Given the description of an element on the screen output the (x, y) to click on. 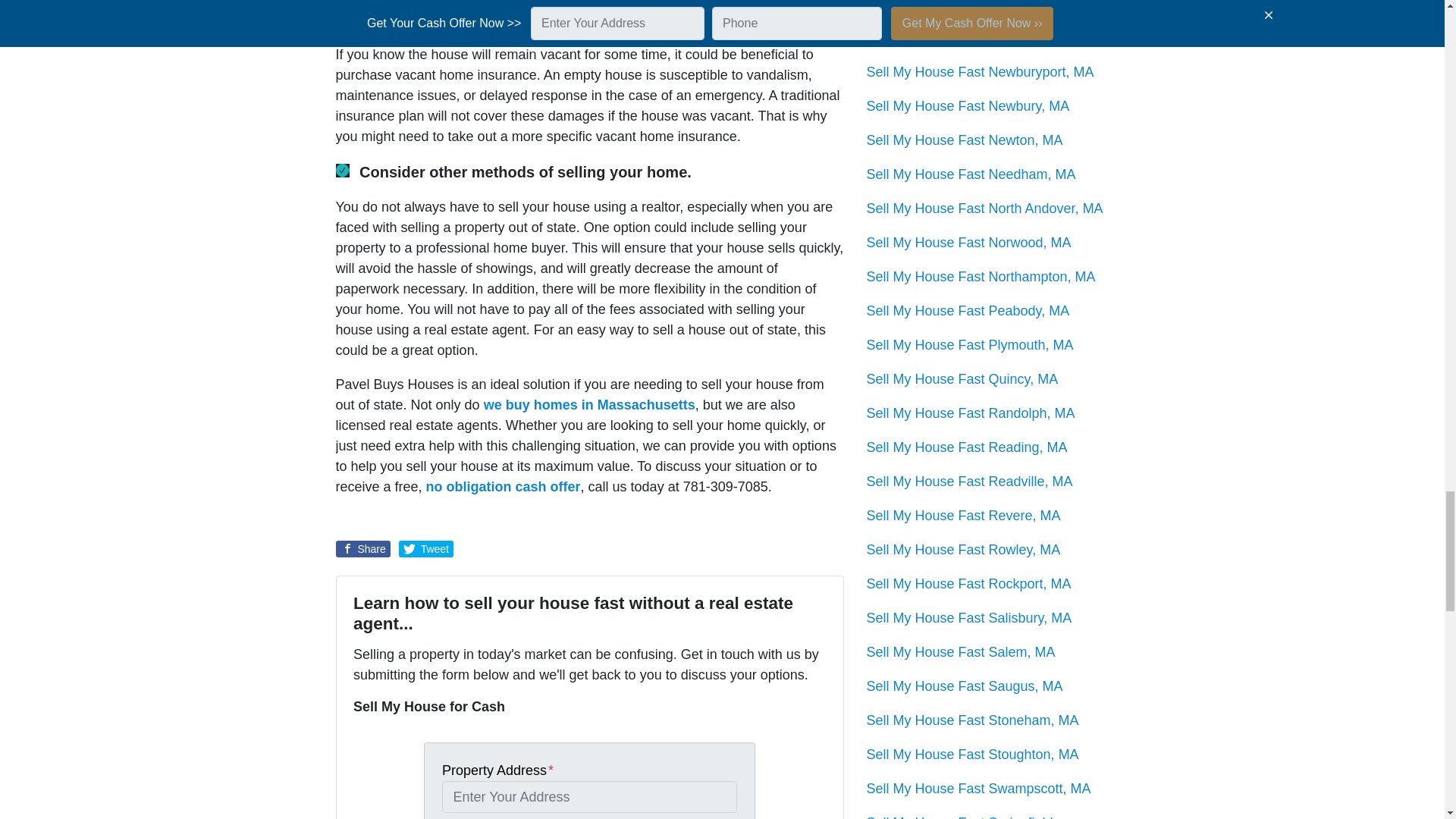
we buy homes in Massachusetts (589, 404)
no obligation cash offer (503, 486)
Share (362, 548)
Share on Facebook (362, 548)
Share on Twitter (425, 548)
Tweet (425, 548)
